Given the description of an element on the screen output the (x, y) to click on. 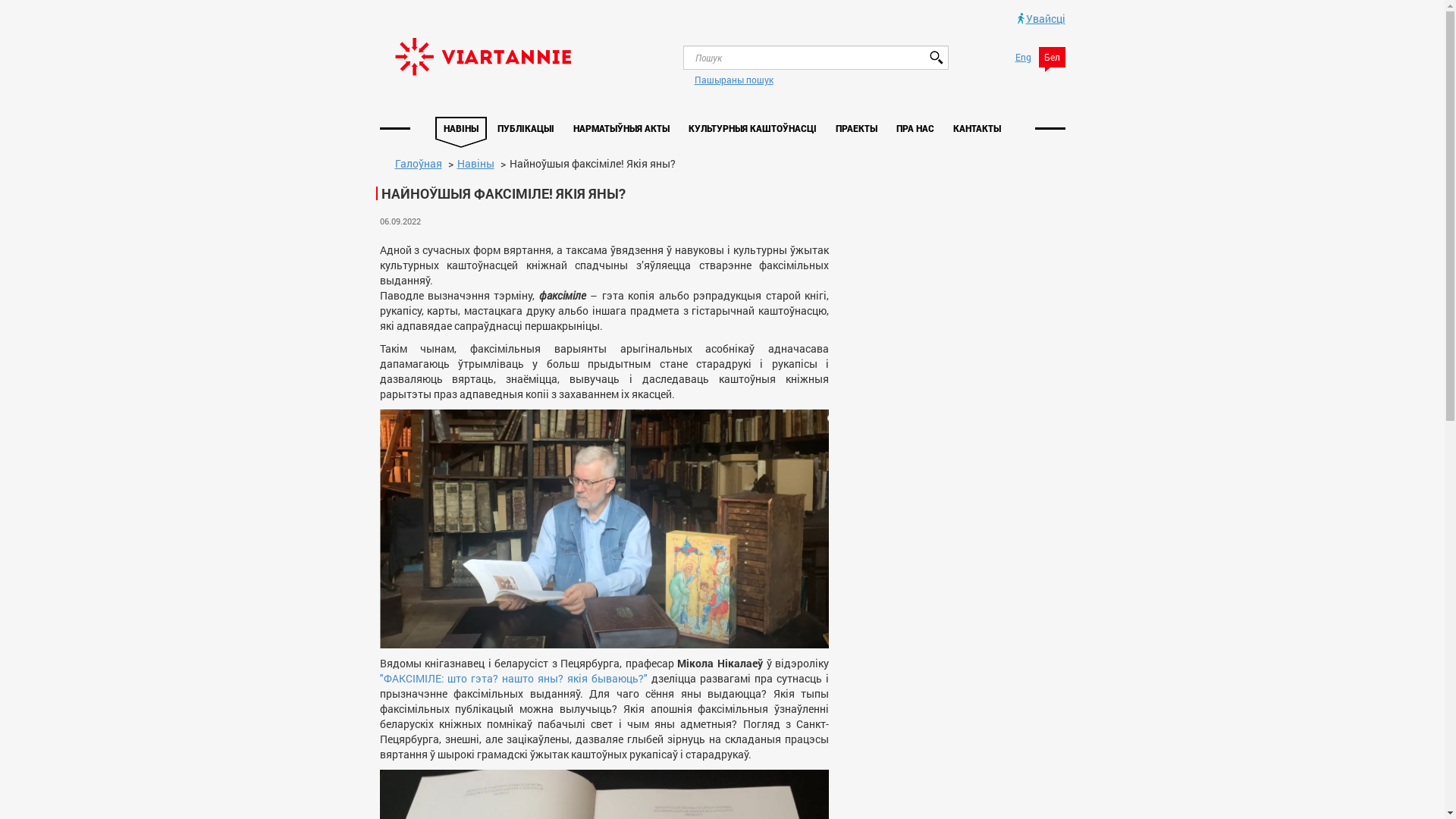
Eng Element type: text (1023, 57)
